Given the description of an element on the screen output the (x, y) to click on. 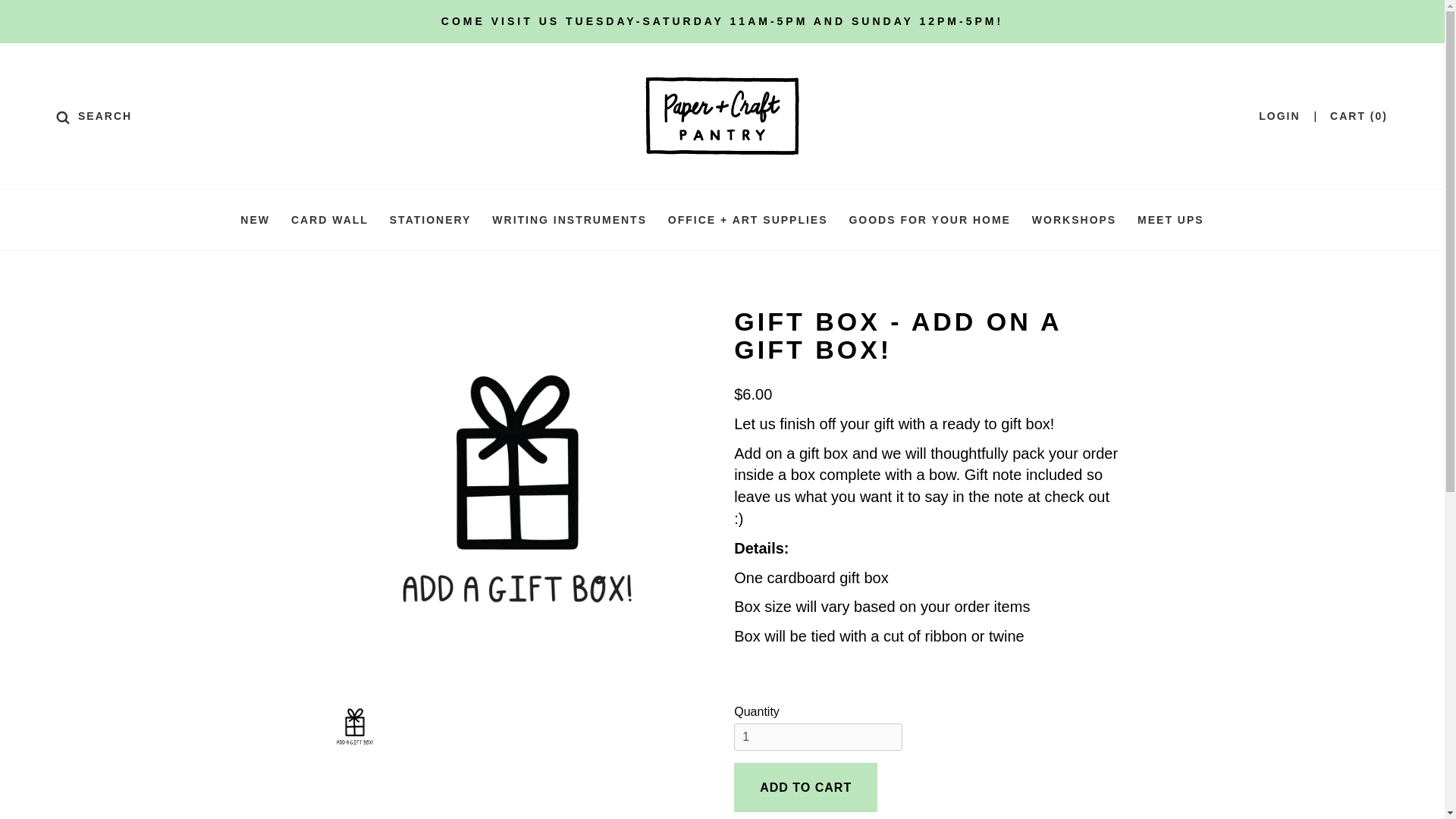
1 (817, 737)
LOGIN (1279, 115)
SEARCH (94, 115)
